Given the description of an element on the screen output the (x, y) to click on. 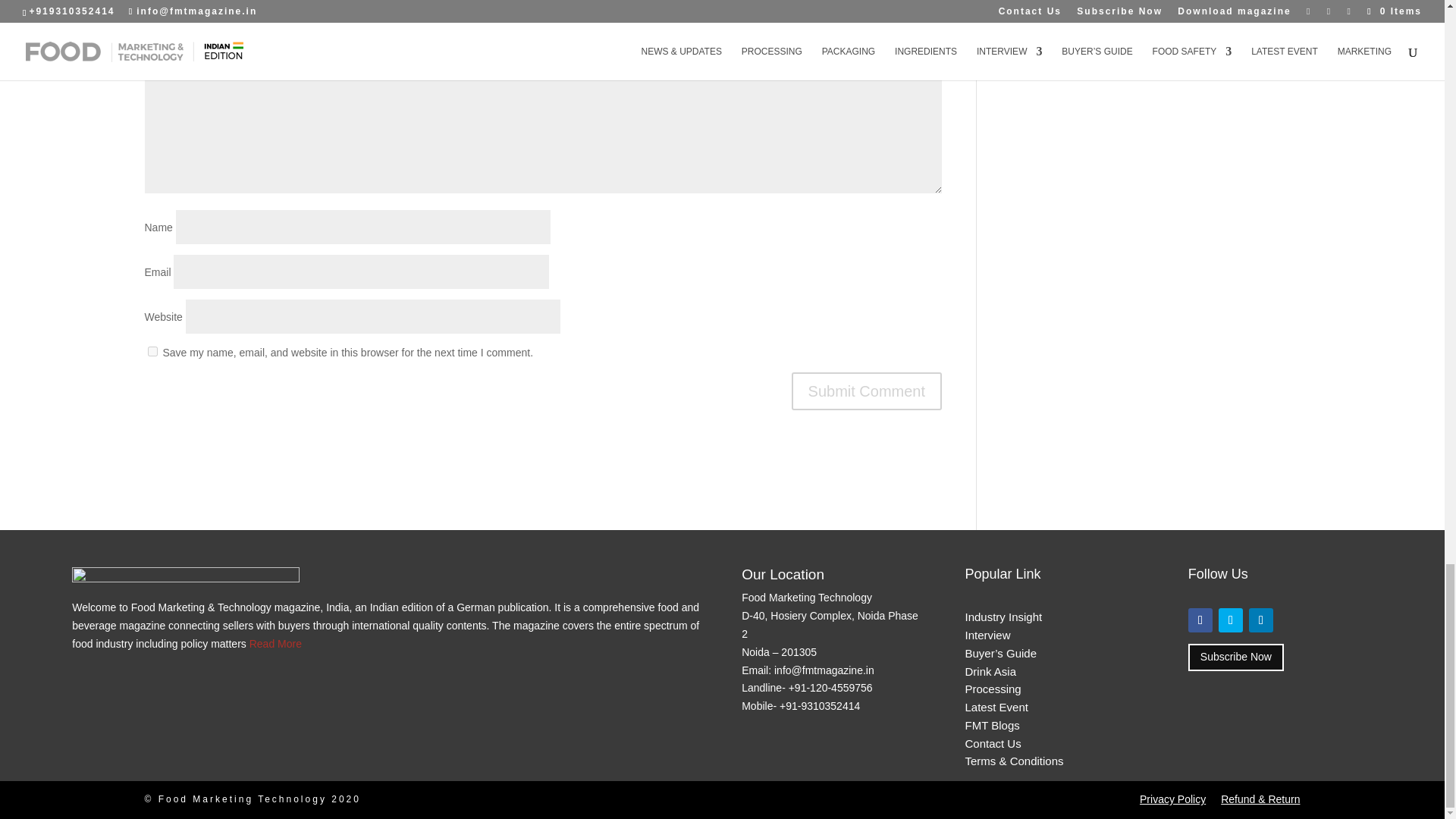
Follow on Facebook (1200, 620)
Submit Comment (867, 391)
Follow on LinkedIn (1260, 620)
yes (152, 351)
Follow on Twitter (1230, 620)
Submit Comment (867, 391)
